Given the description of an element on the screen output the (x, y) to click on. 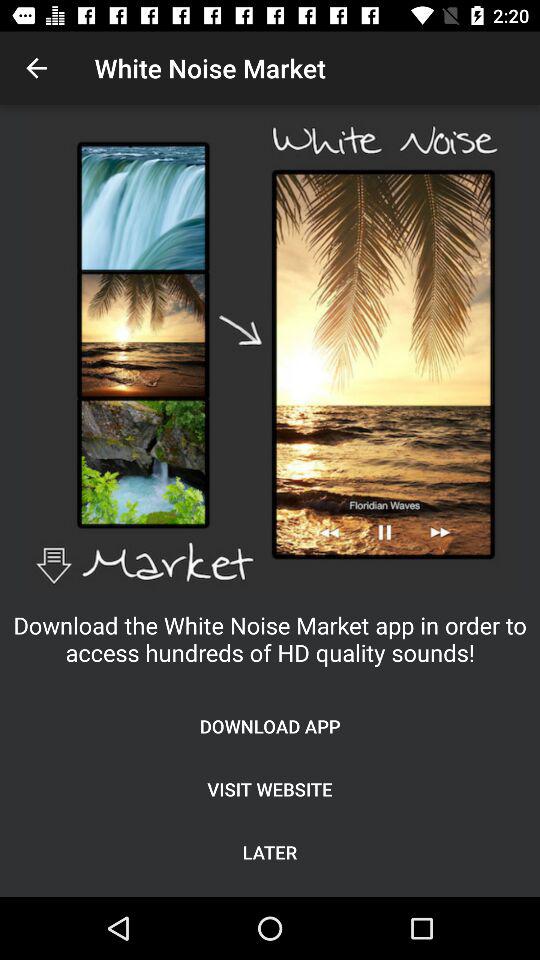
click the later icon (269, 851)
